Given the description of an element on the screen output the (x, y) to click on. 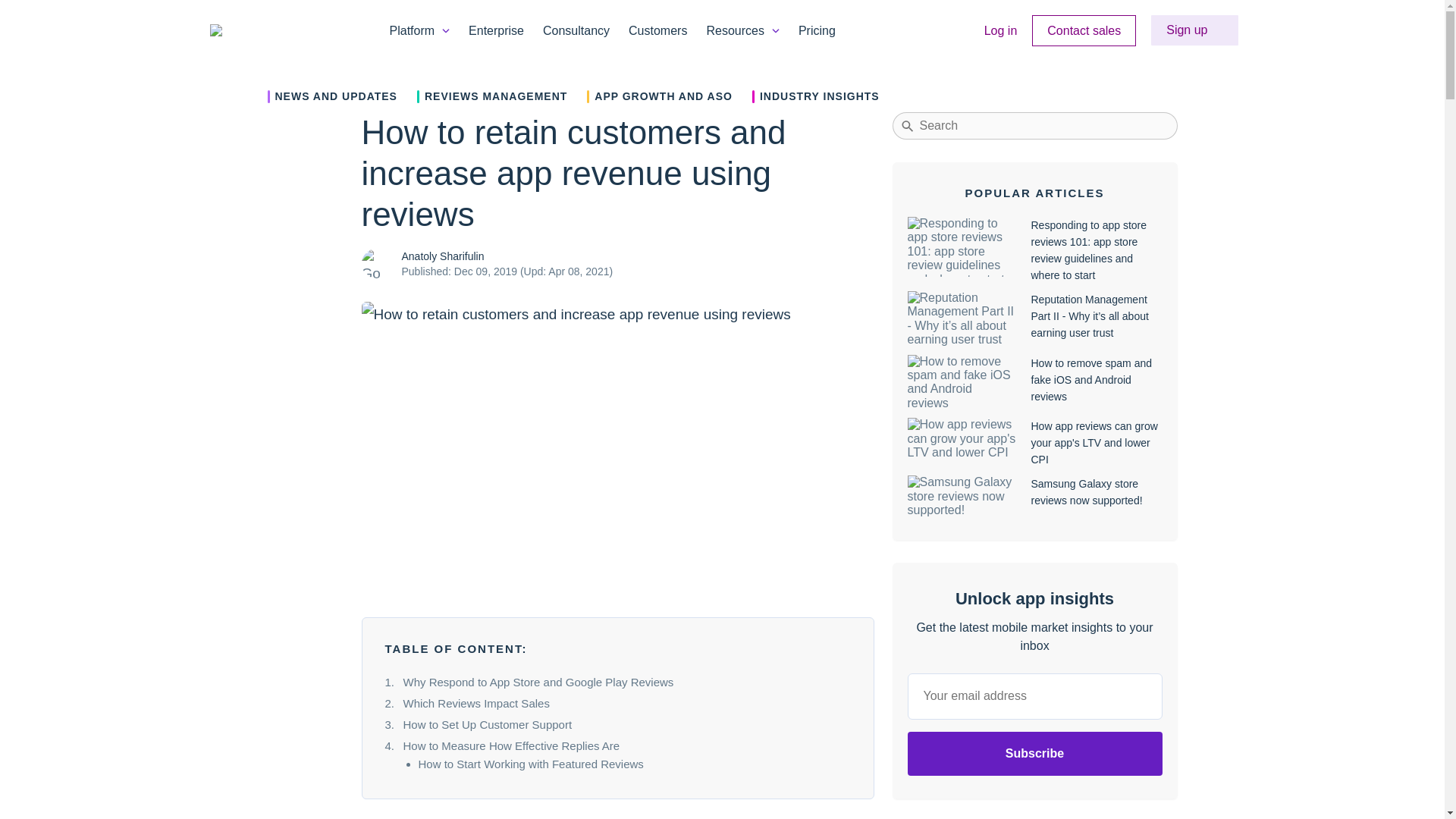
NEWS AND UPDATES (331, 95)
Enterprise (496, 30)
Contact sales (1083, 30)
Customers (657, 30)
REVIEWS MANAGEMENT (491, 95)
Log in (1000, 30)
Consultancy (576, 30)
APP GROWTH AND ASO (659, 95)
Sign up (1194, 30)
